Given the description of an element on the screen output the (x, y) to click on. 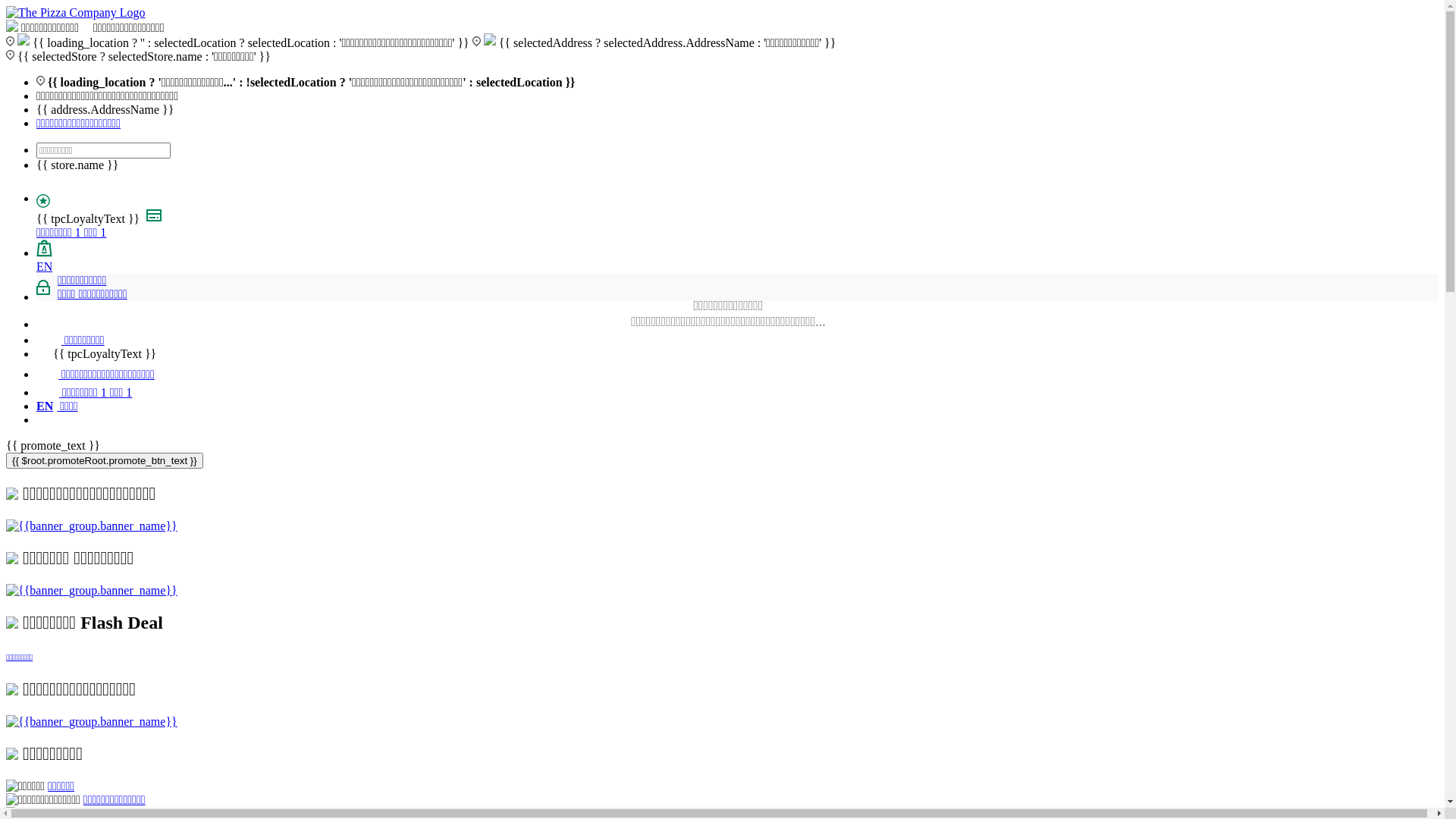
EN Element type: text (44, 266)
